Given the description of an element on the screen output the (x, y) to click on. 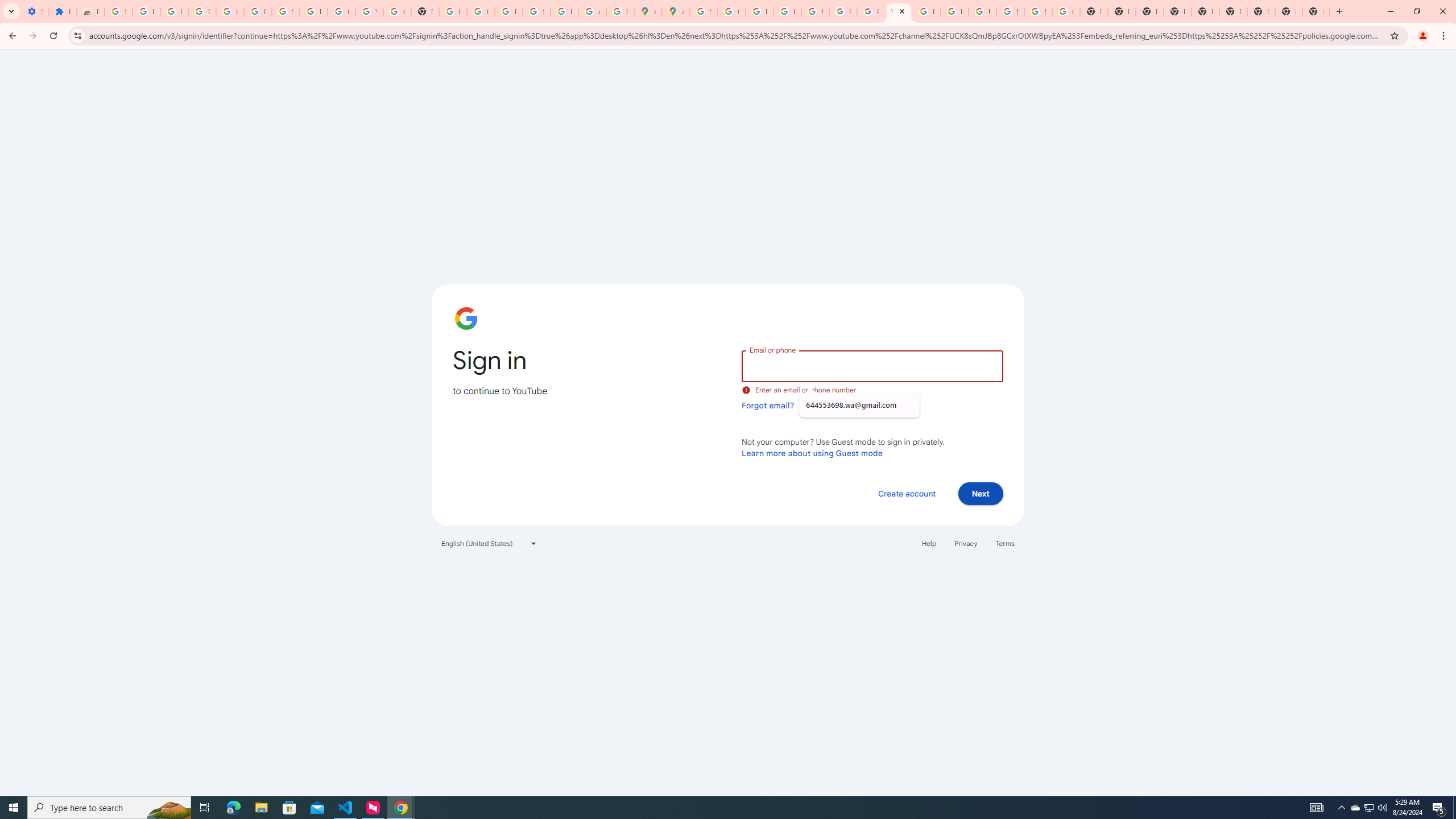
YouTube (898, 11)
Reviews: Helix Fruit Jump Arcade Game (90, 11)
English (United States) (489, 542)
Google Images (1065, 11)
Sign in - Google Accounts (703, 11)
